Given the description of an element on the screen output the (x, y) to click on. 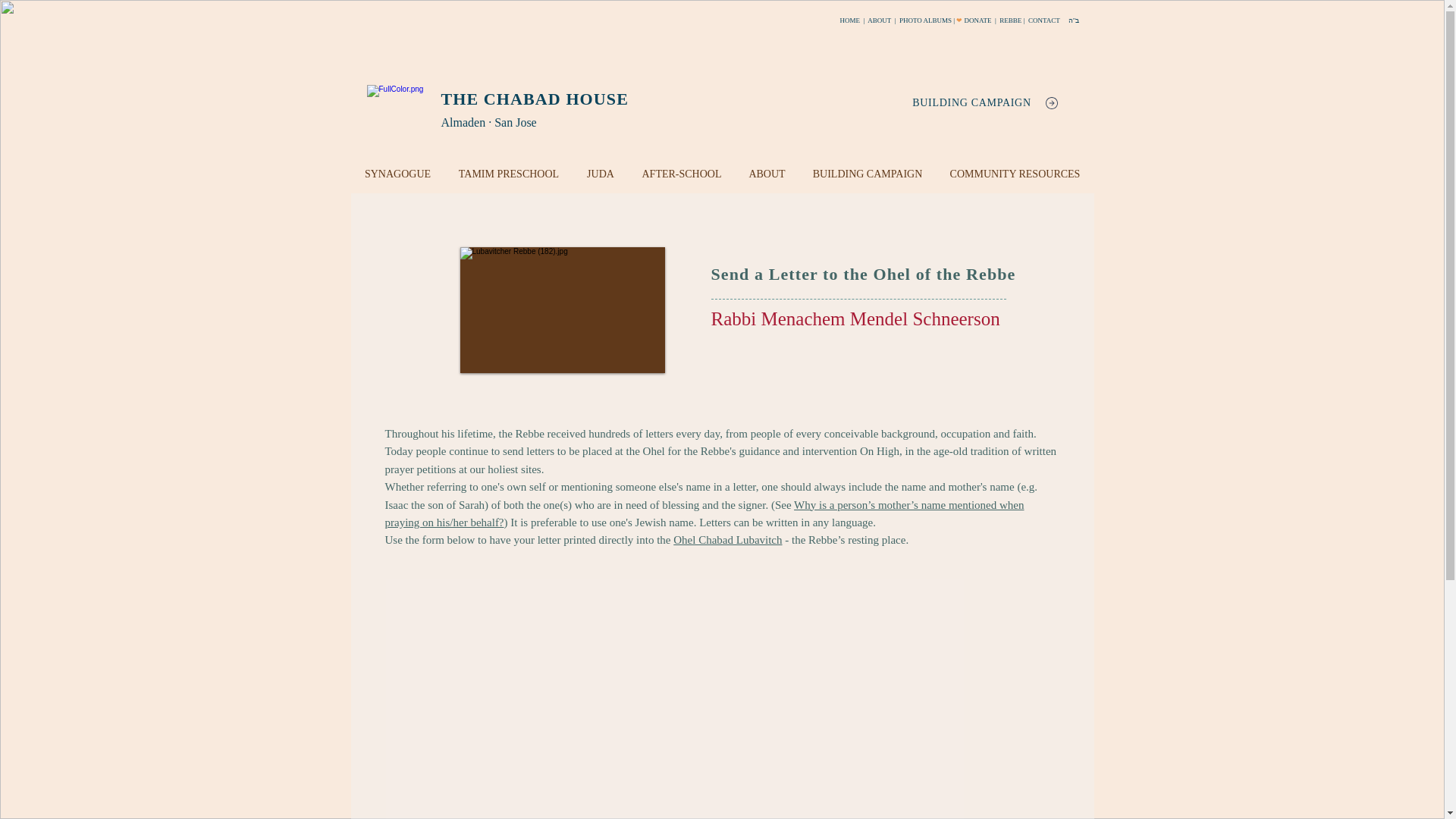
DONATE (977, 20)
SYNAGOGUE (397, 174)
ABOUT (879, 20)
CONTACT (1043, 20)
PHOTO ALBUMS (925, 20)
TAMIM PRESCHOOL (508, 174)
REBBE  (1010, 20)
THE CHABAD HOUSE (534, 98)
BUILDING CAMPAIGN (867, 174)
JUDA (600, 174)
AFTER-SCHOOL (681, 174)
HOME  (850, 20)
BUILDING CAMPAIGN (971, 102)
